Given the description of an element on the screen output the (x, y) to click on. 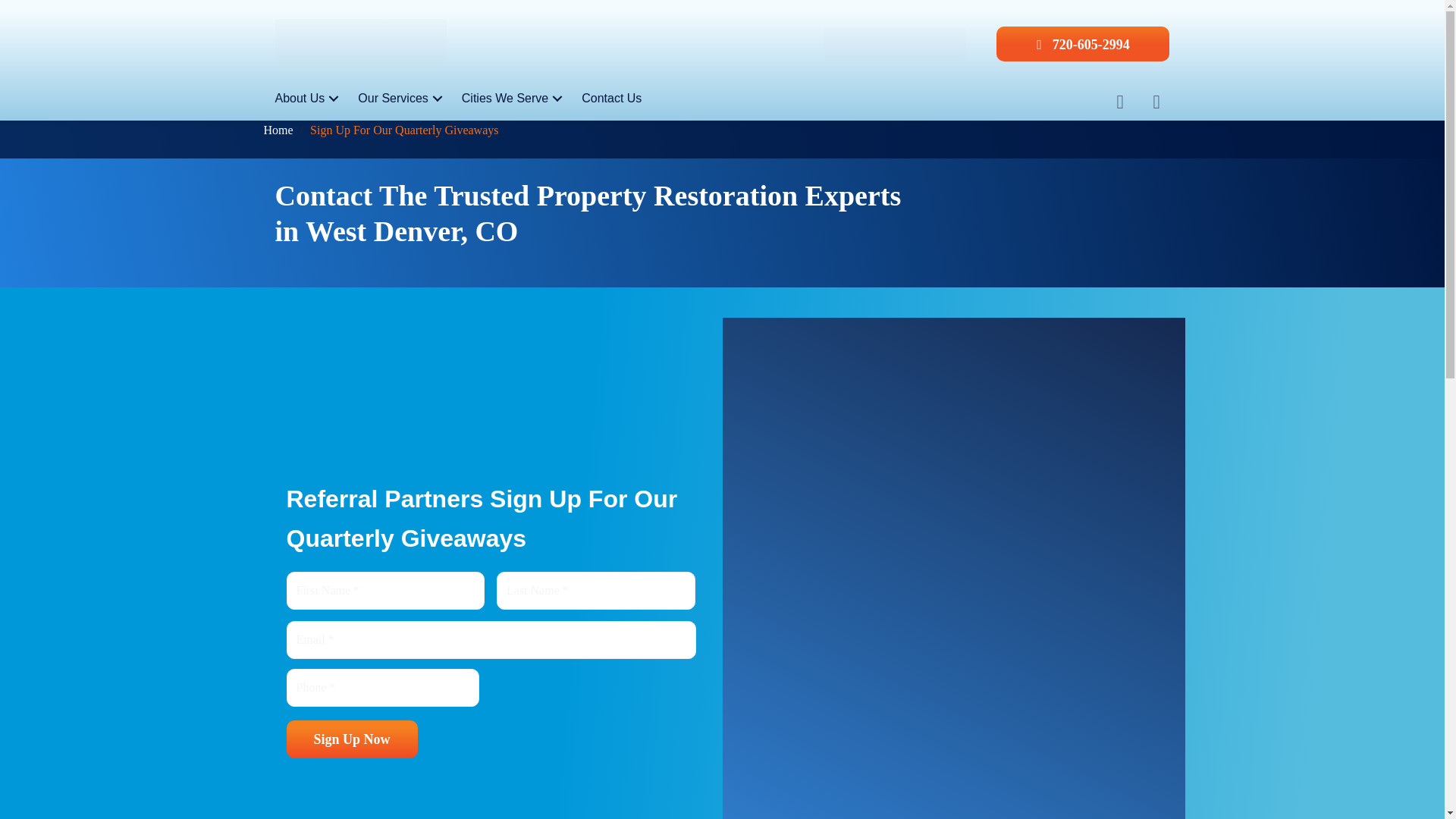
About Us (308, 98)
Our Services (401, 98)
Sign Up Now (351, 739)
Image-5 (895, 43)
Logo (360, 42)
Facebook (1083, 98)
Cities We Serve (513, 98)
720-605-2994 (1082, 42)
